Given the description of an element on the screen output the (x, y) to click on. 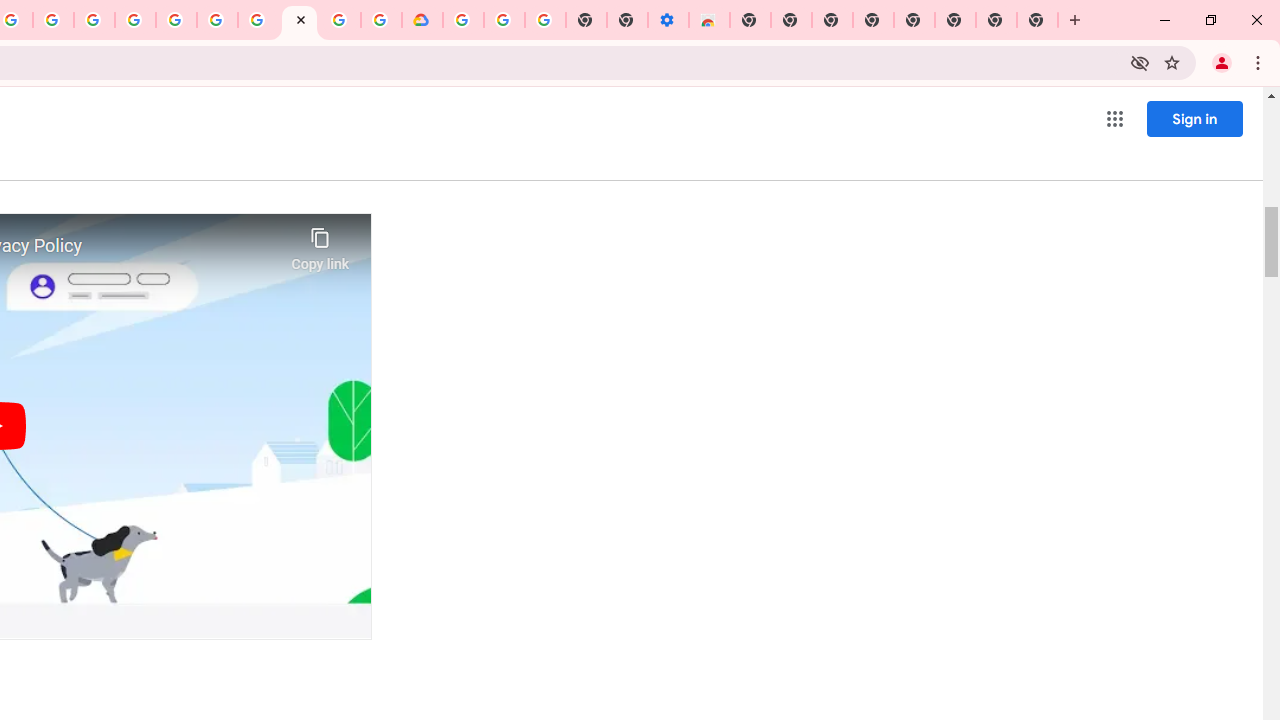
New Tab (749, 20)
Browse the Google Chrome Community - Google Chrome Community (381, 20)
Sign in - Google Accounts (462, 20)
Ad Settings (135, 20)
Turn cookies on or off - Computer - Google Account Help (544, 20)
Chrome Web Store - Accessibility extensions (708, 20)
Settings - Accessibility (667, 20)
